Given the description of an element on the screen output the (x, y) to click on. 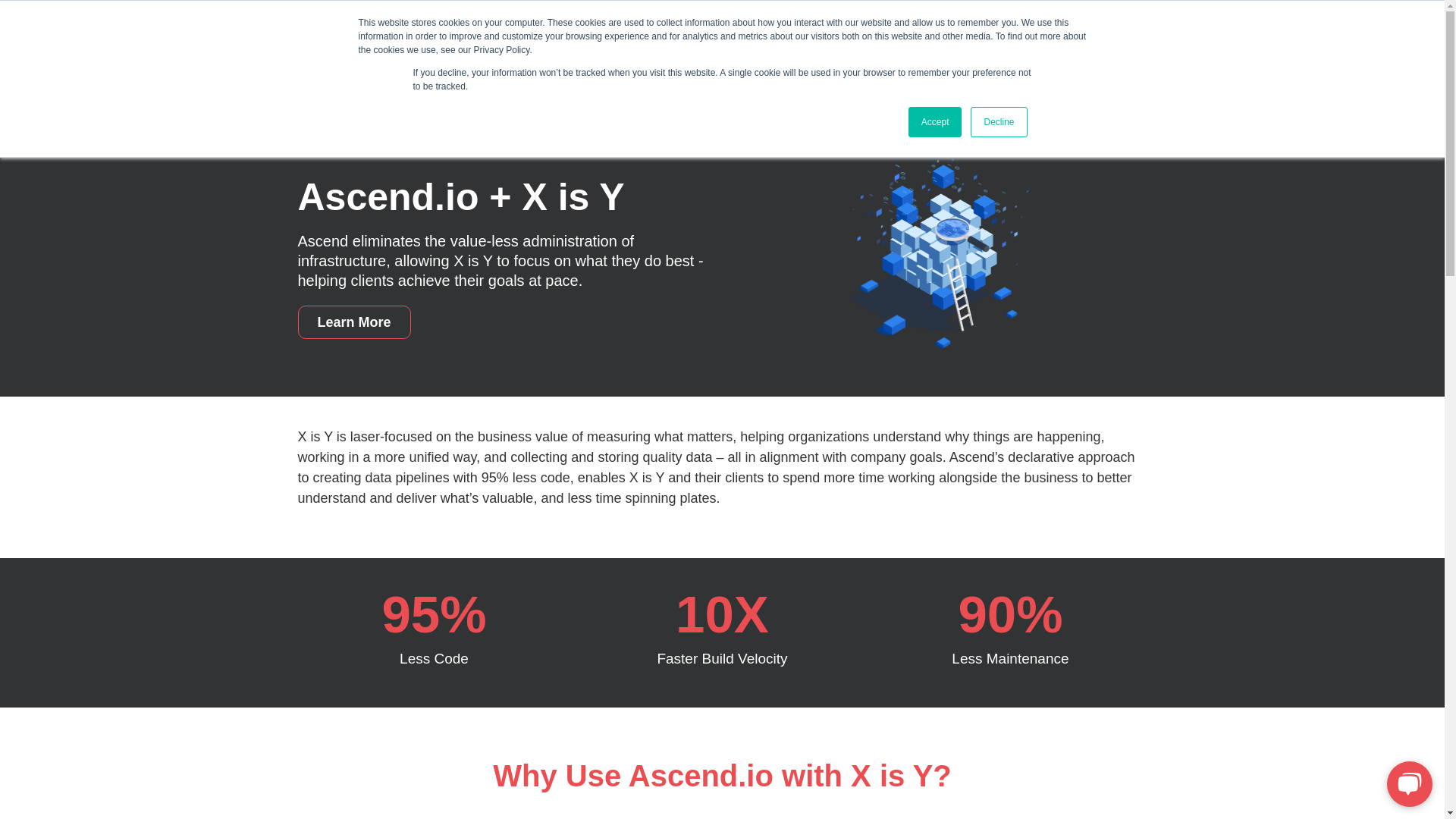
Solutions (699, 36)
Pricing (788, 36)
Resources (880, 36)
Decline (998, 122)
Why Ascend (592, 36)
Product (489, 36)
Accept (935, 122)
